Given the description of an element on the screen output the (x, y) to click on. 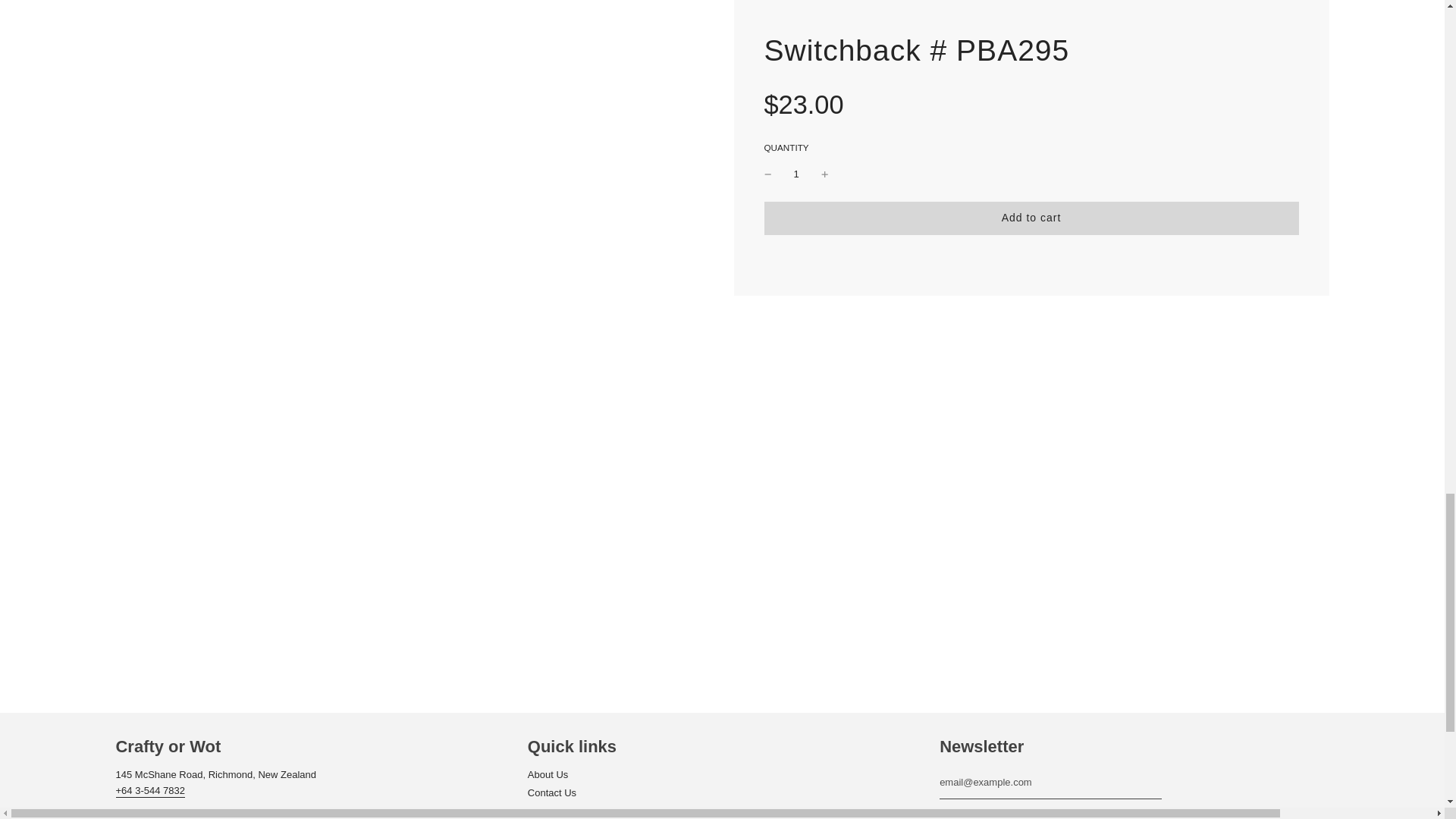
Subscribe (981, 814)
